Given the description of an element on the screen output the (x, y) to click on. 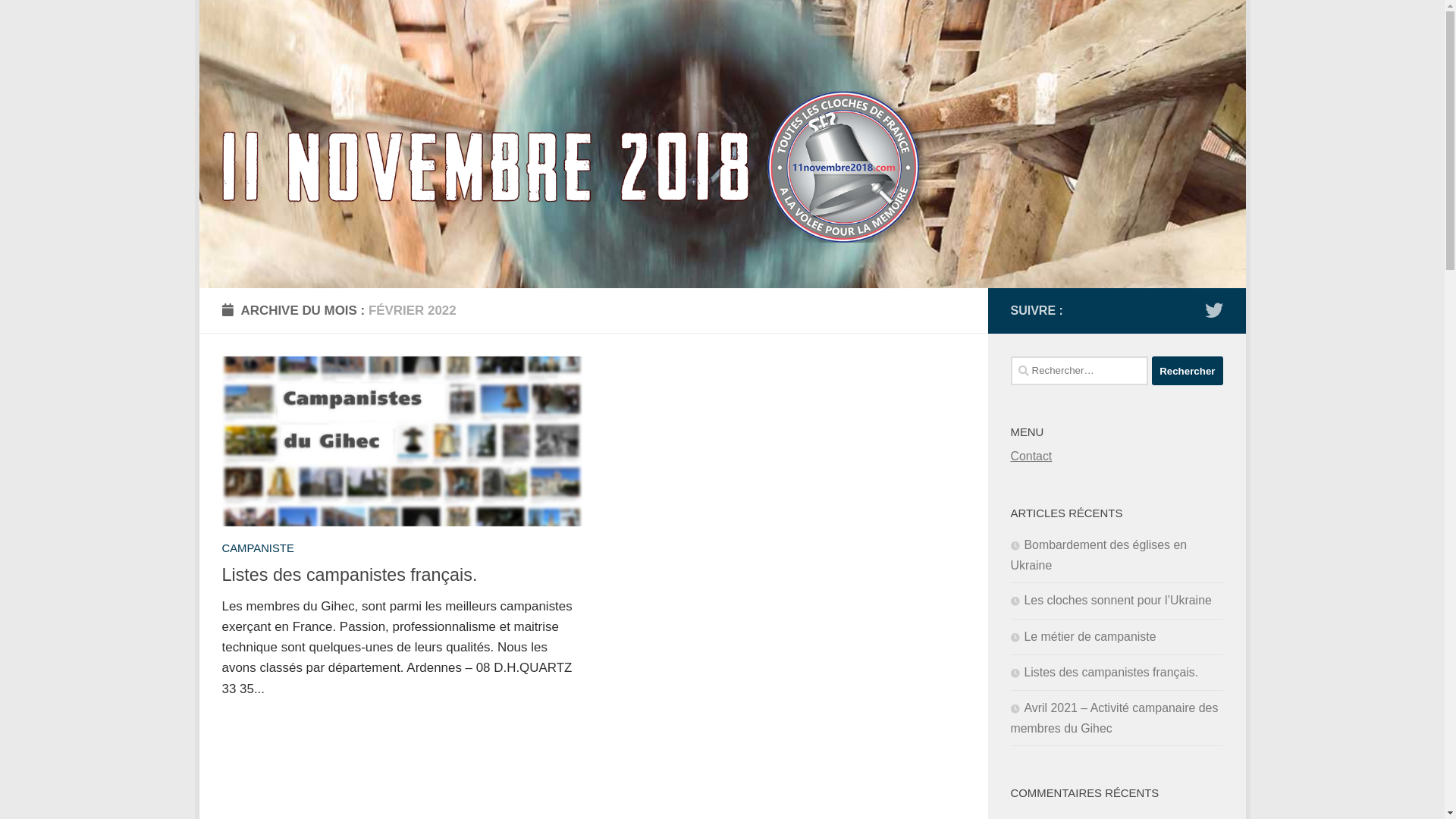
Rechercher Element type: text (1186, 370)
CAMPANISTE Element type: text (257, 548)
Suivez-nous sur Twitter Element type: hover (1213, 310)
11 novembre 2018 | Page d'accueil Element type: hover (575, 166)
Skip to content Element type: text (265, 21)
Contact Element type: text (1030, 455)
